Given the description of an element on the screen output the (x, y) to click on. 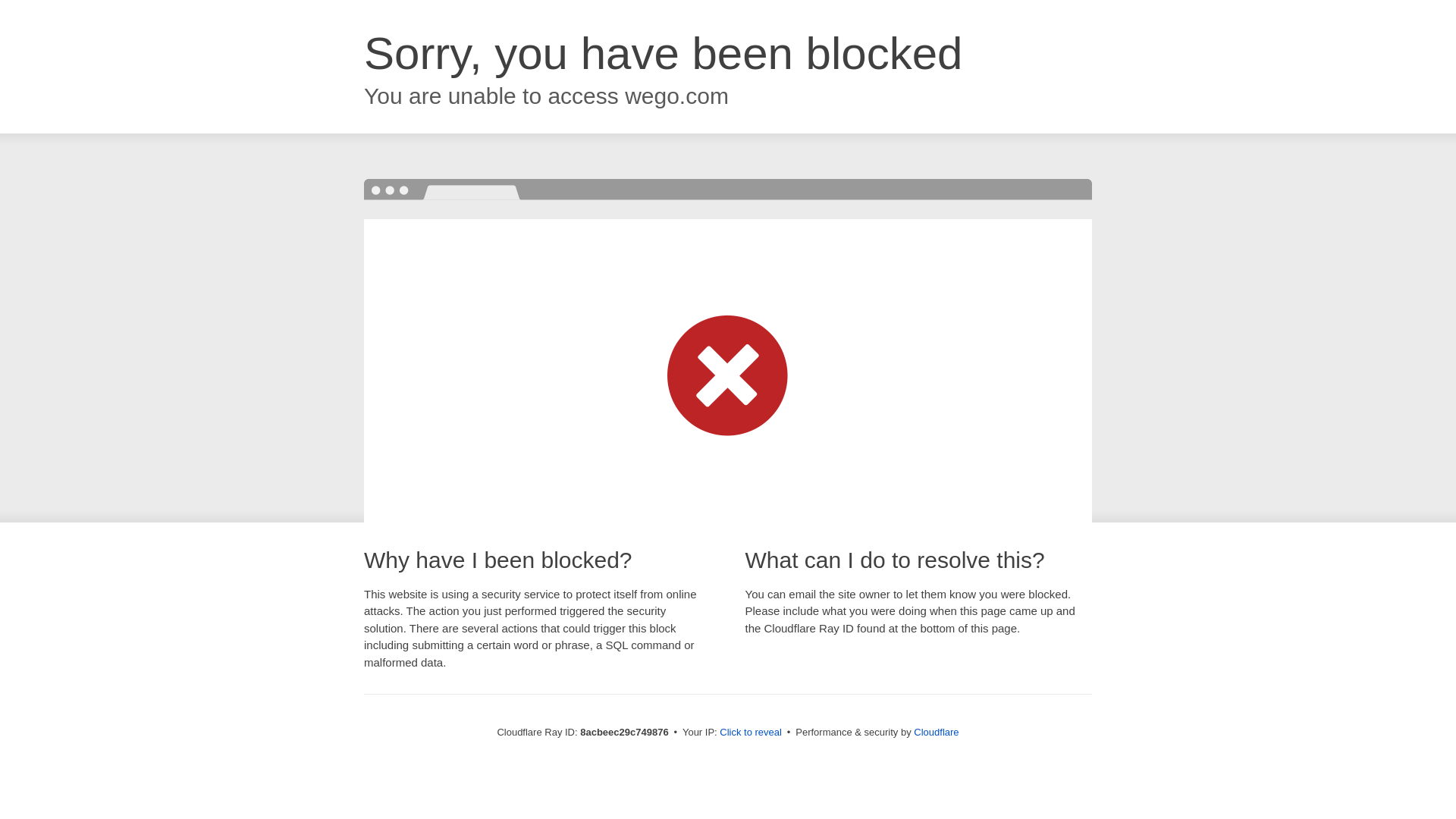
Click to reveal (750, 732)
Cloudflare (936, 731)
